Given the description of an element on the screen output the (x, y) to click on. 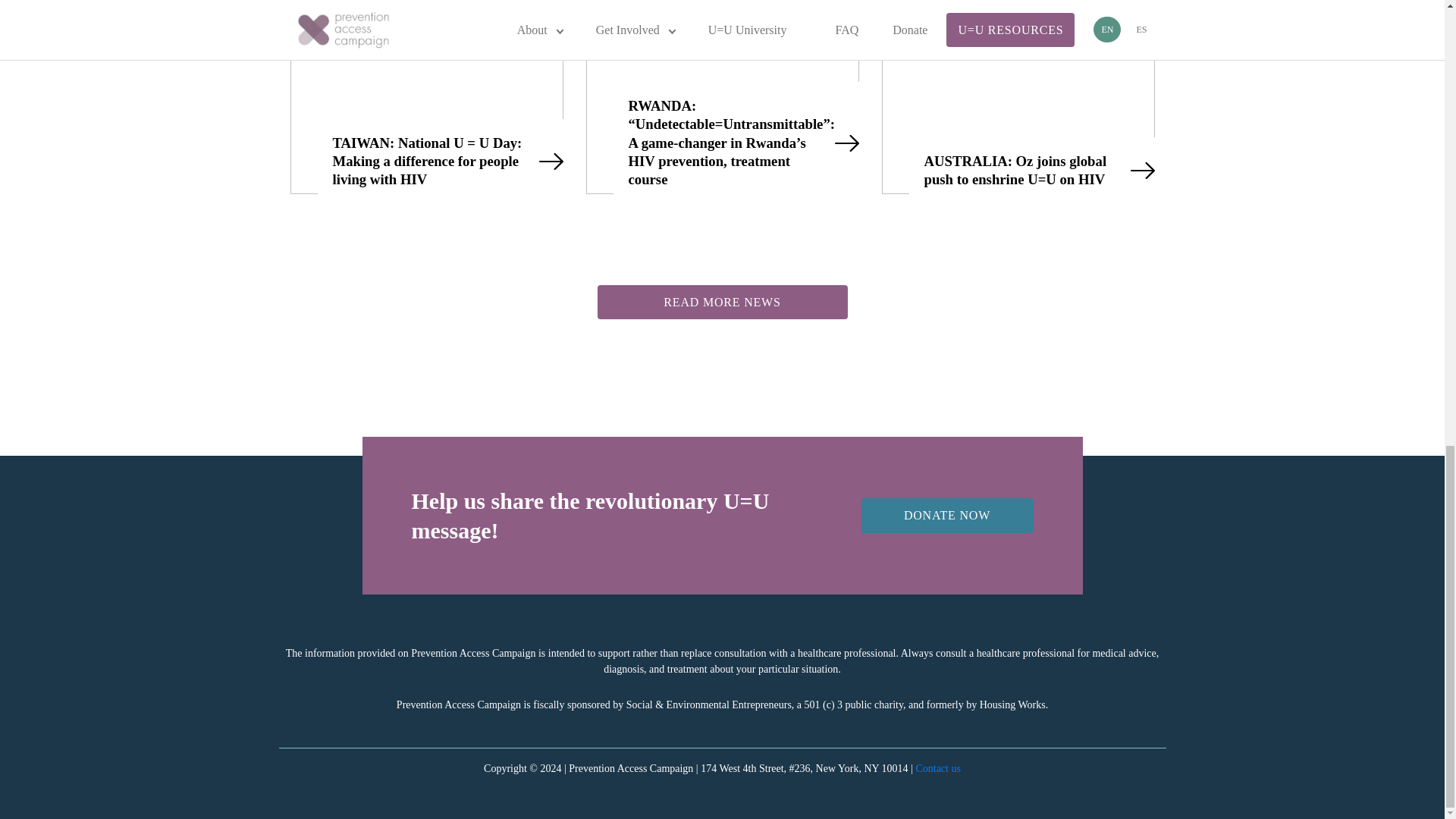
DONATE NOW (947, 514)
READ MORE NEWS (721, 302)
Contact us (937, 767)
